Given the description of an element on the screen output the (x, y) to click on. 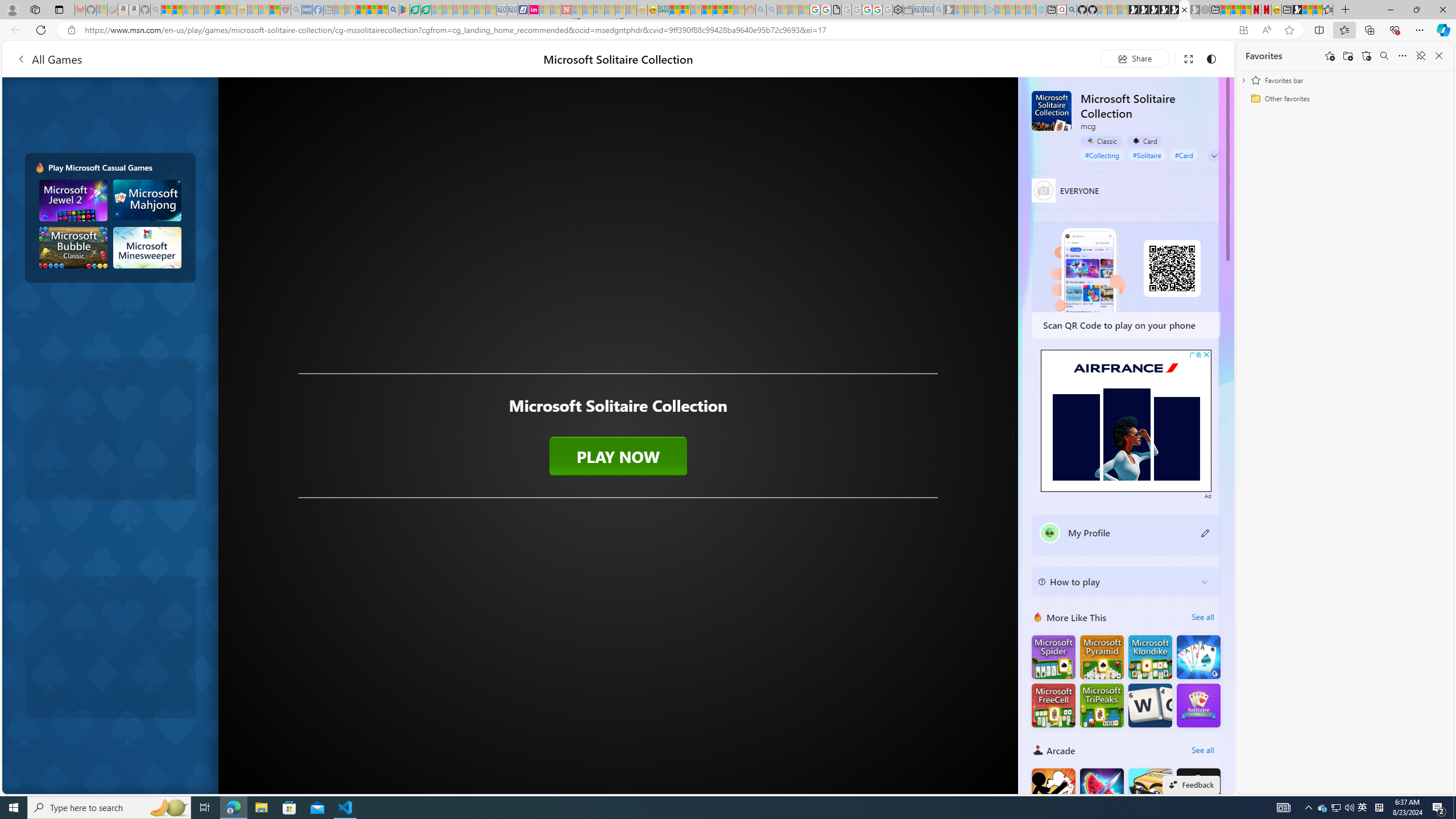
Restore deleted favorites (1366, 55)
Hunter Hitman (1198, 789)
github - Search (1071, 9)
Microsoft Jewel 2 (73, 200)
Solitaire Gold (1198, 657)
Microsoft Jewel 2 (73, 200)
All Games (216, 58)
Utah sues federal government - Search - Sleeping (771, 9)
